Given the description of an element on the screen output the (x, y) to click on. 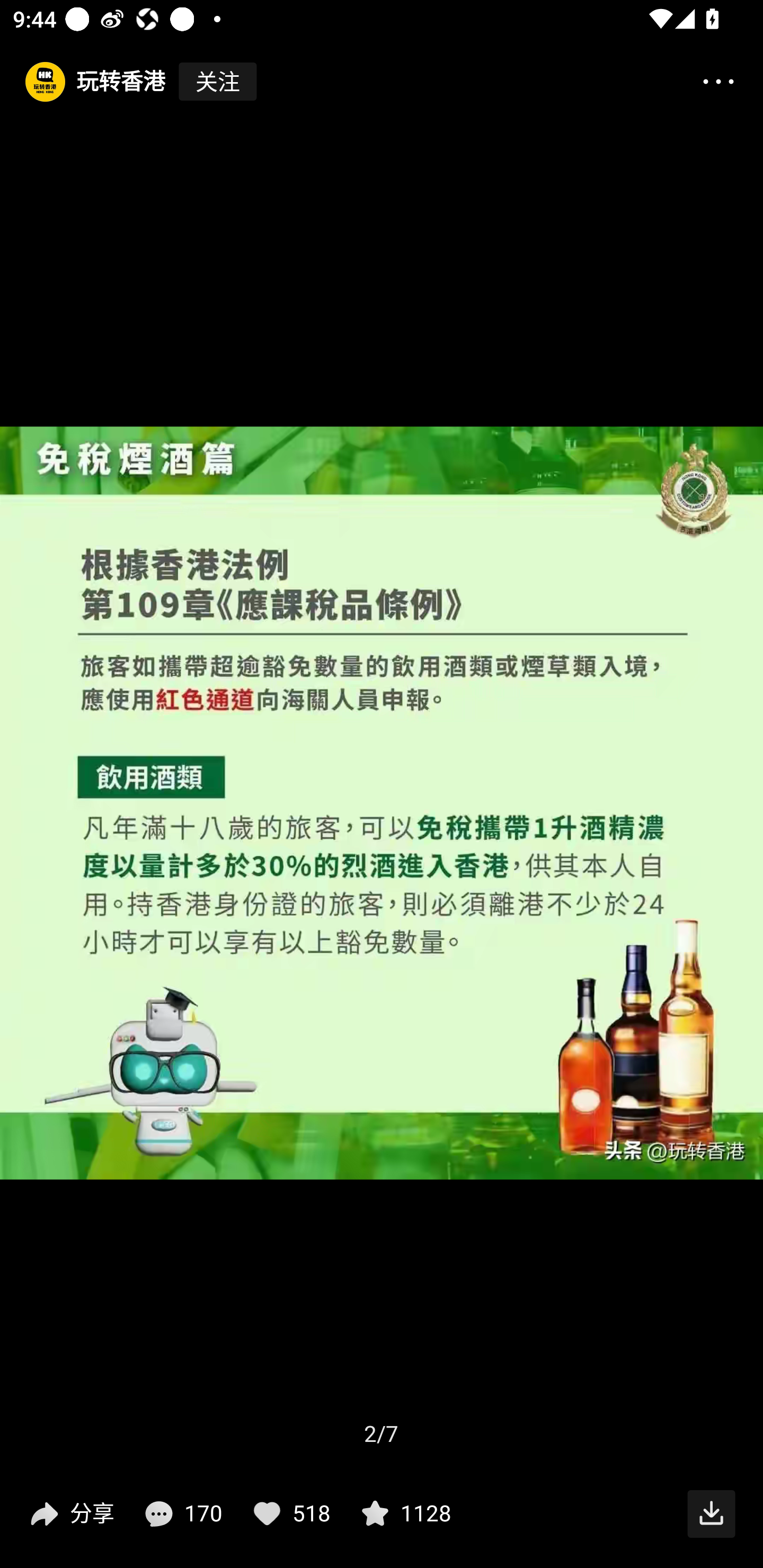
玩转香港 关注 关注 (128, 81)
关注 (217, 81)
分享 (69, 1513)
评论,170 170 (180, 1513)
收藏,1128 1128 (403, 1513)
